Given the description of an element on the screen output the (x, y) to click on. 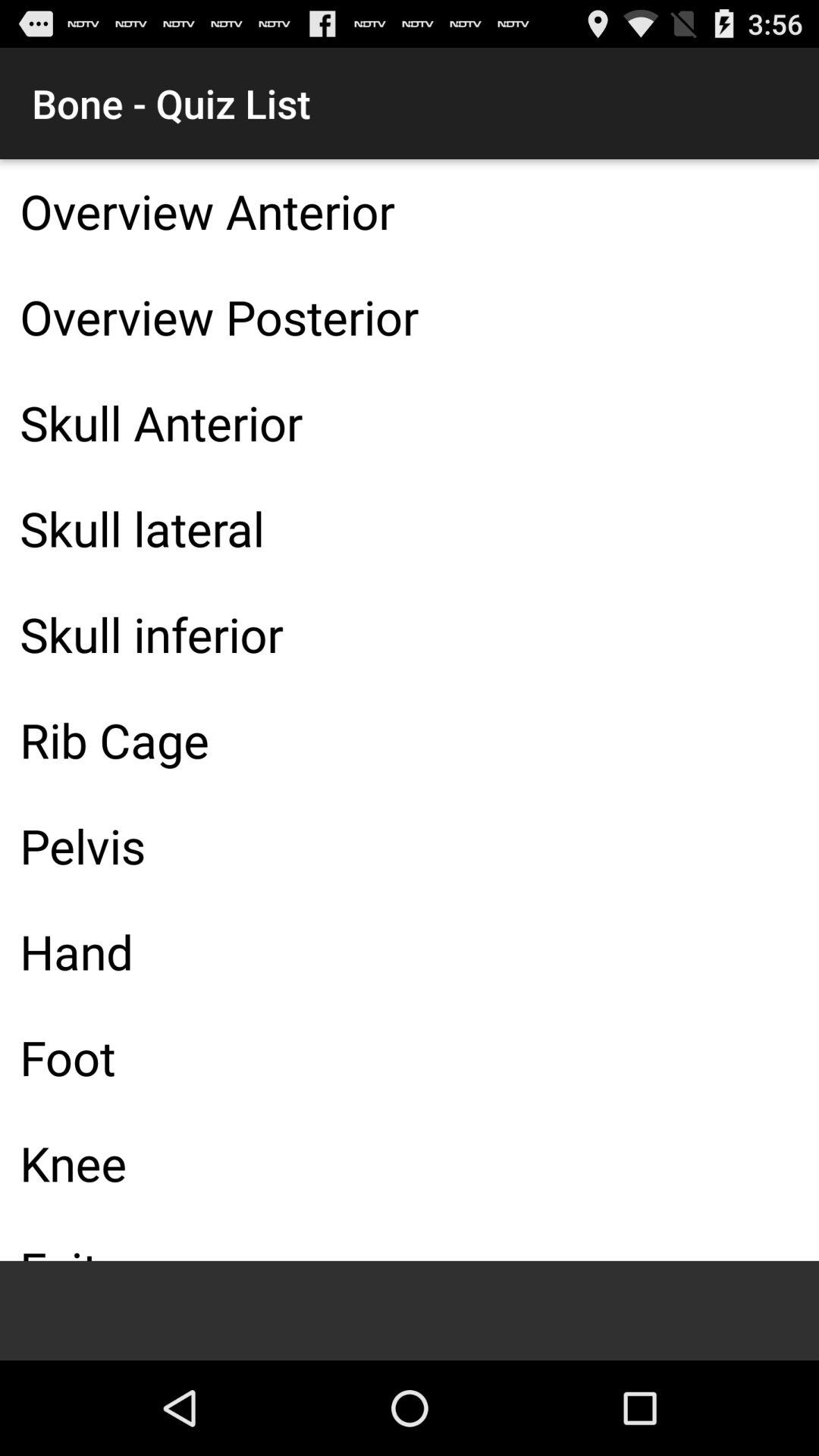
turn on overview anterior item (409, 210)
